Given the description of an element on the screen output the (x, y) to click on. 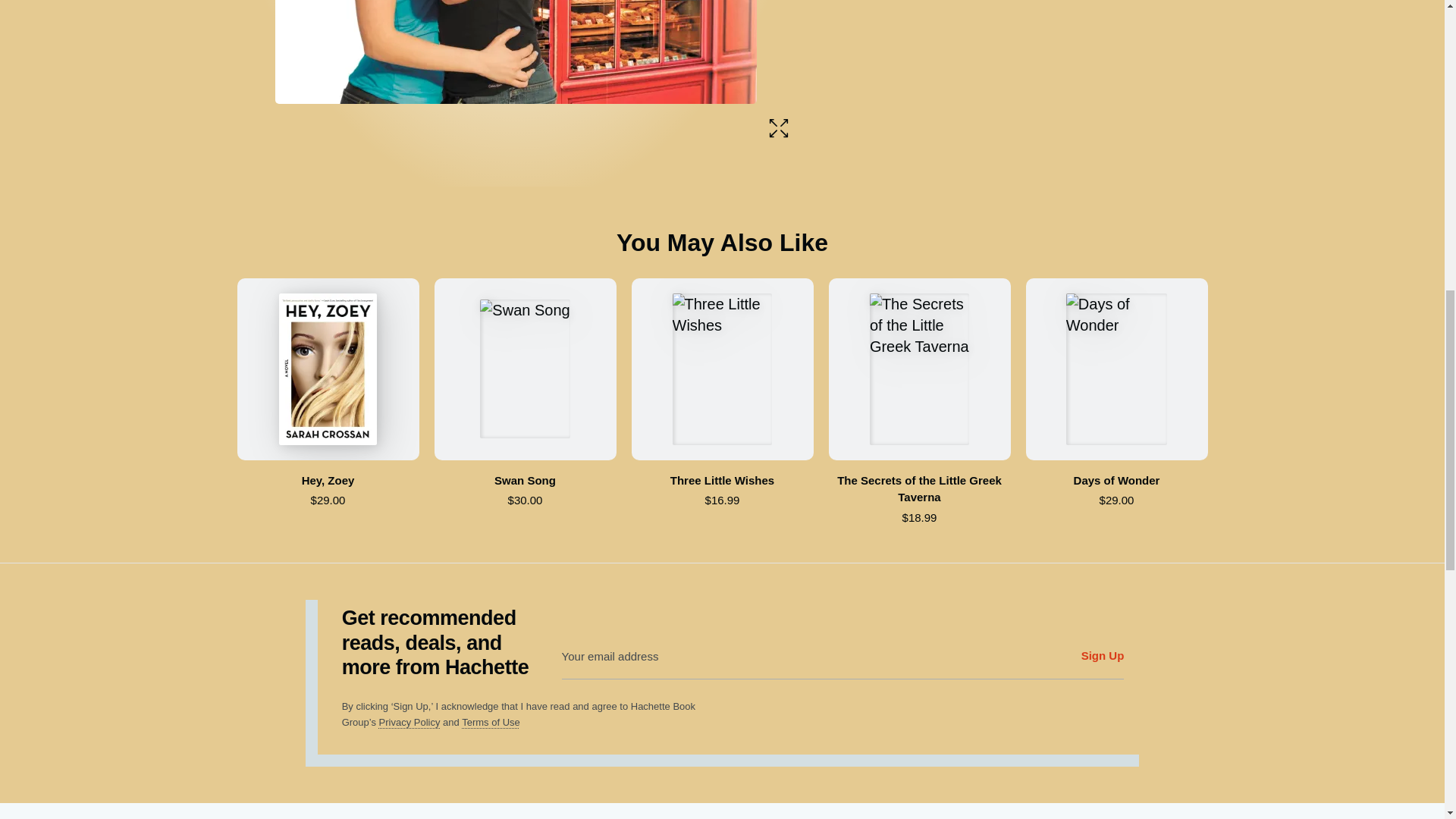
Open the full-size image (778, 128)
